Given the description of an element on the screen output the (x, y) to click on. 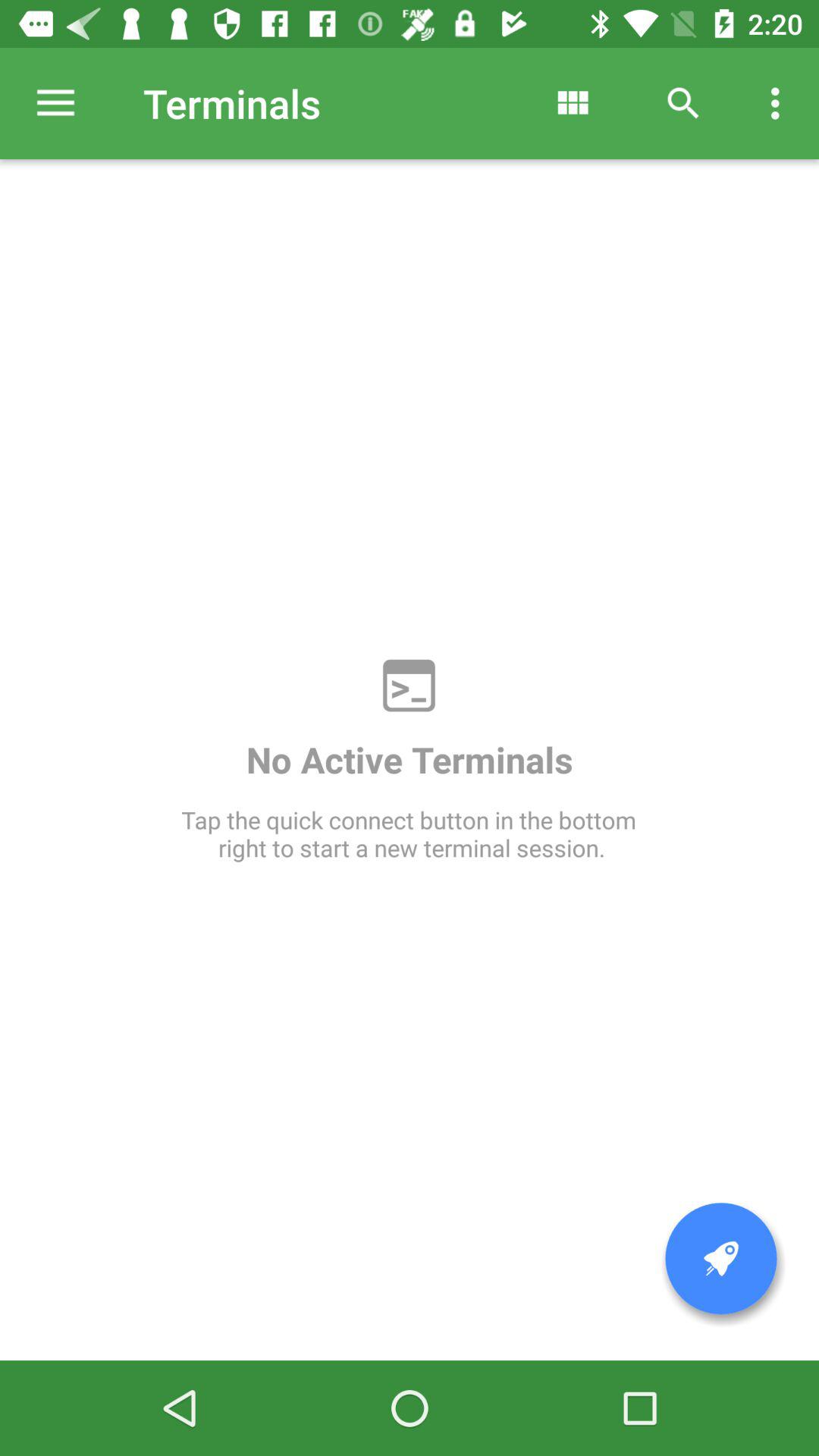
turn off item above no active terminals (571, 103)
